Given the description of an element on the screen output the (x, y) to click on. 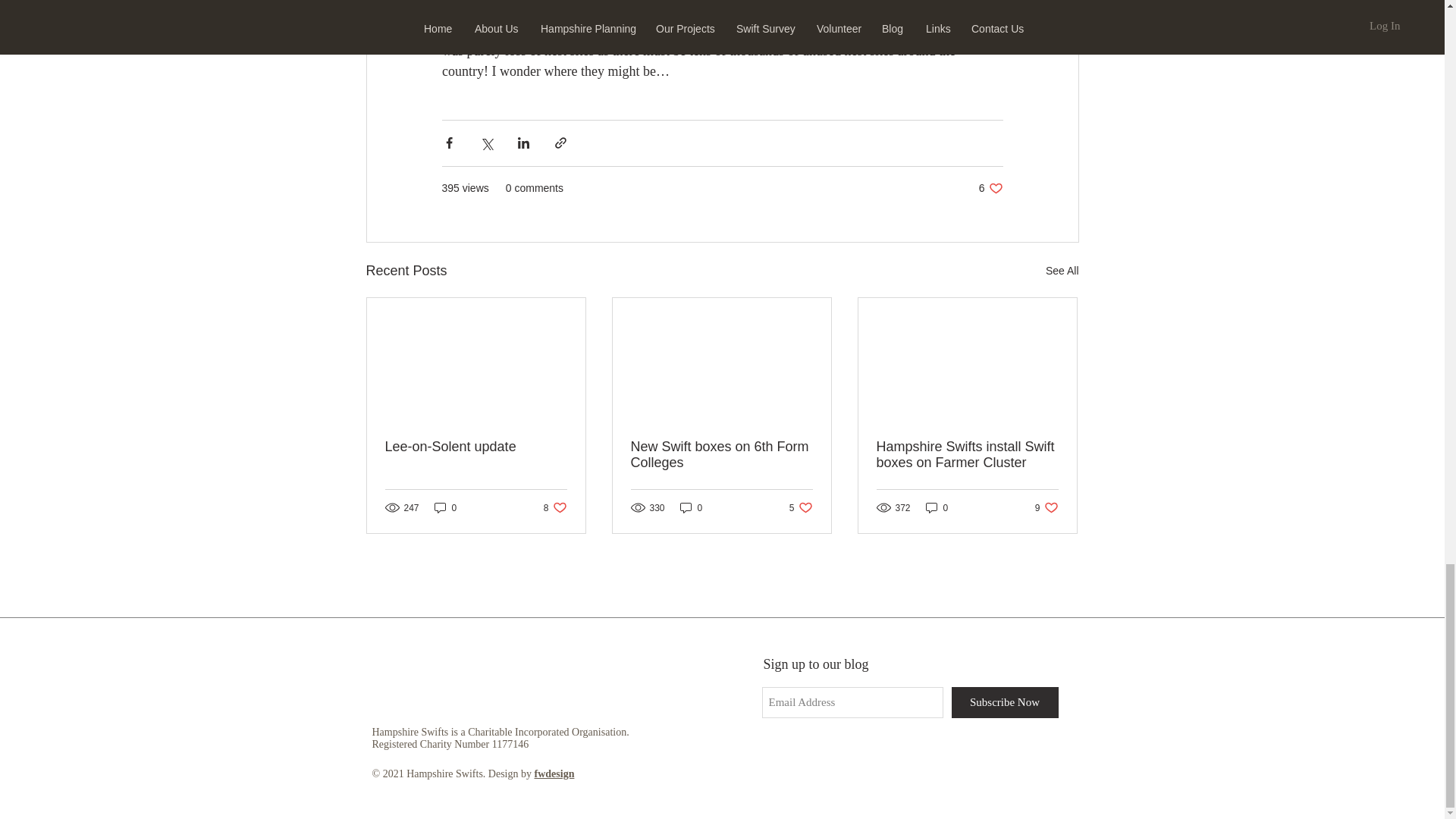
See All (1061, 270)
Lee-on-Solent update (476, 446)
0 (990, 187)
